Given the description of an element on the screen output the (x, y) to click on. 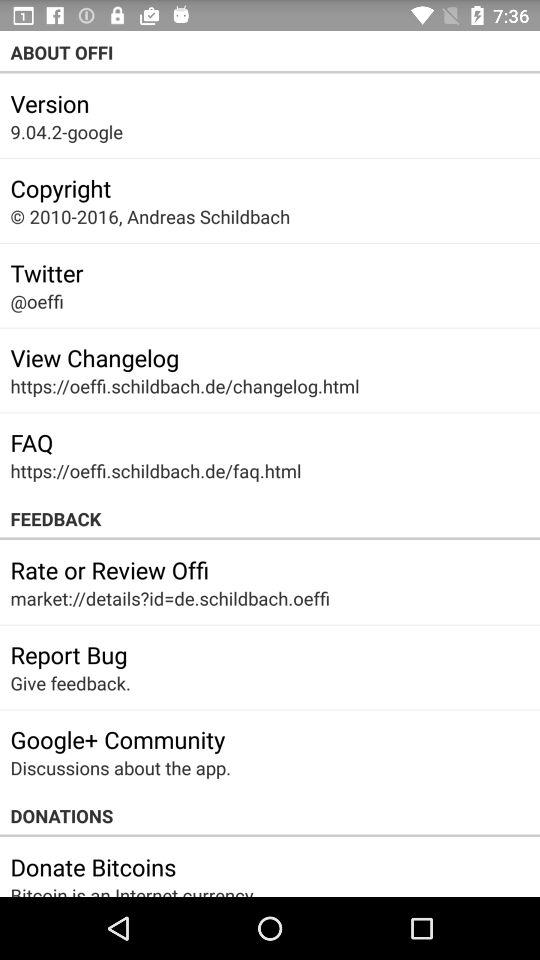
select the copyright icon (60, 188)
